Given the description of an element on the screen output the (x, y) to click on. 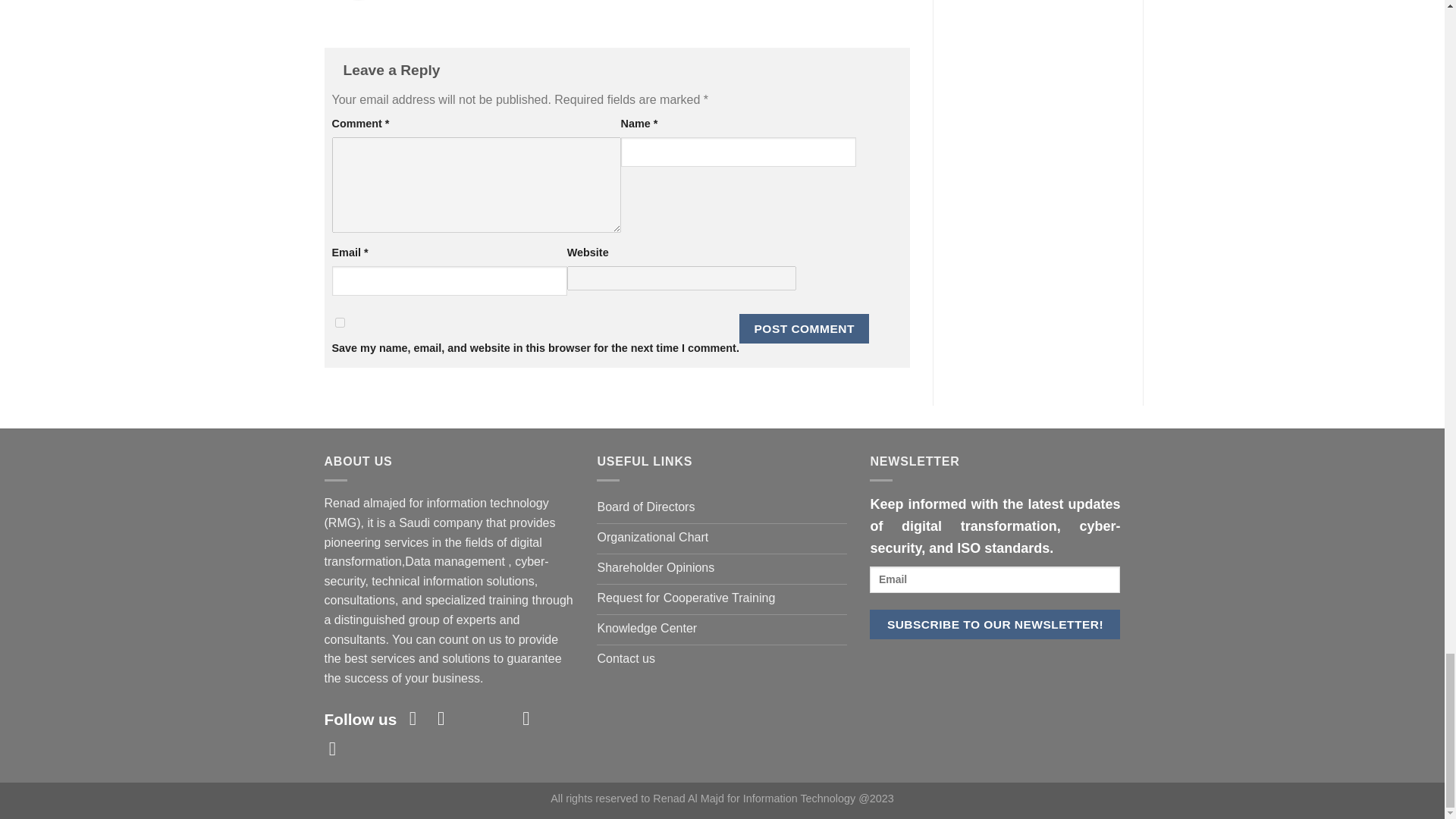
Subscribe to our newsletter! (994, 624)
Post Comment (804, 328)
yes (339, 322)
